Given the description of an element on the screen output the (x, y) to click on. 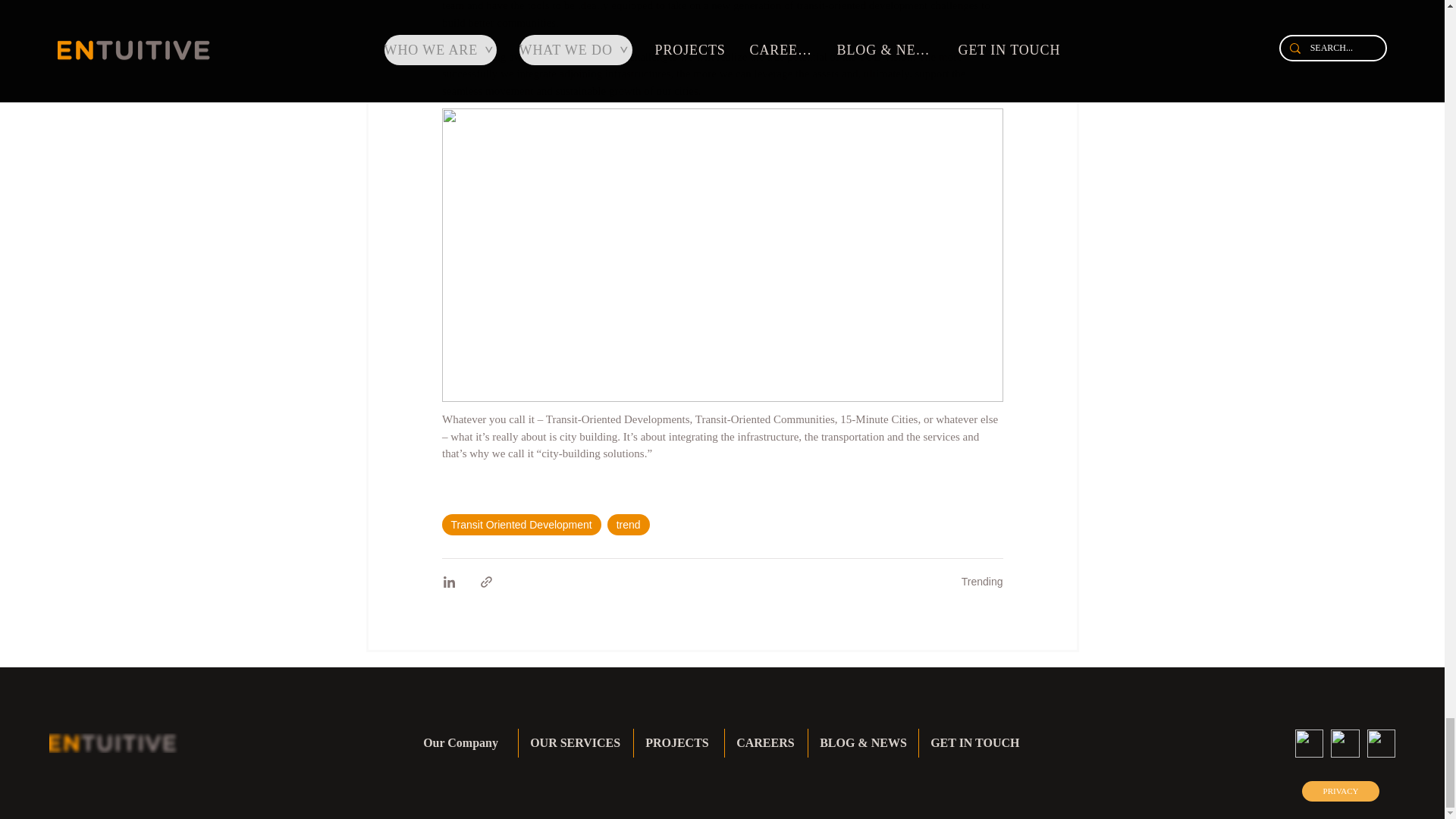
trend (628, 524)
PROJECTS (678, 742)
OUR SERVICES (575, 742)
GET IN TOUCH (975, 742)
Our Company (465, 742)
Transit Oriented Development (520, 524)
Trending (981, 581)
CAREERS (766, 742)
